Given the description of an element on the screen output the (x, y) to click on. 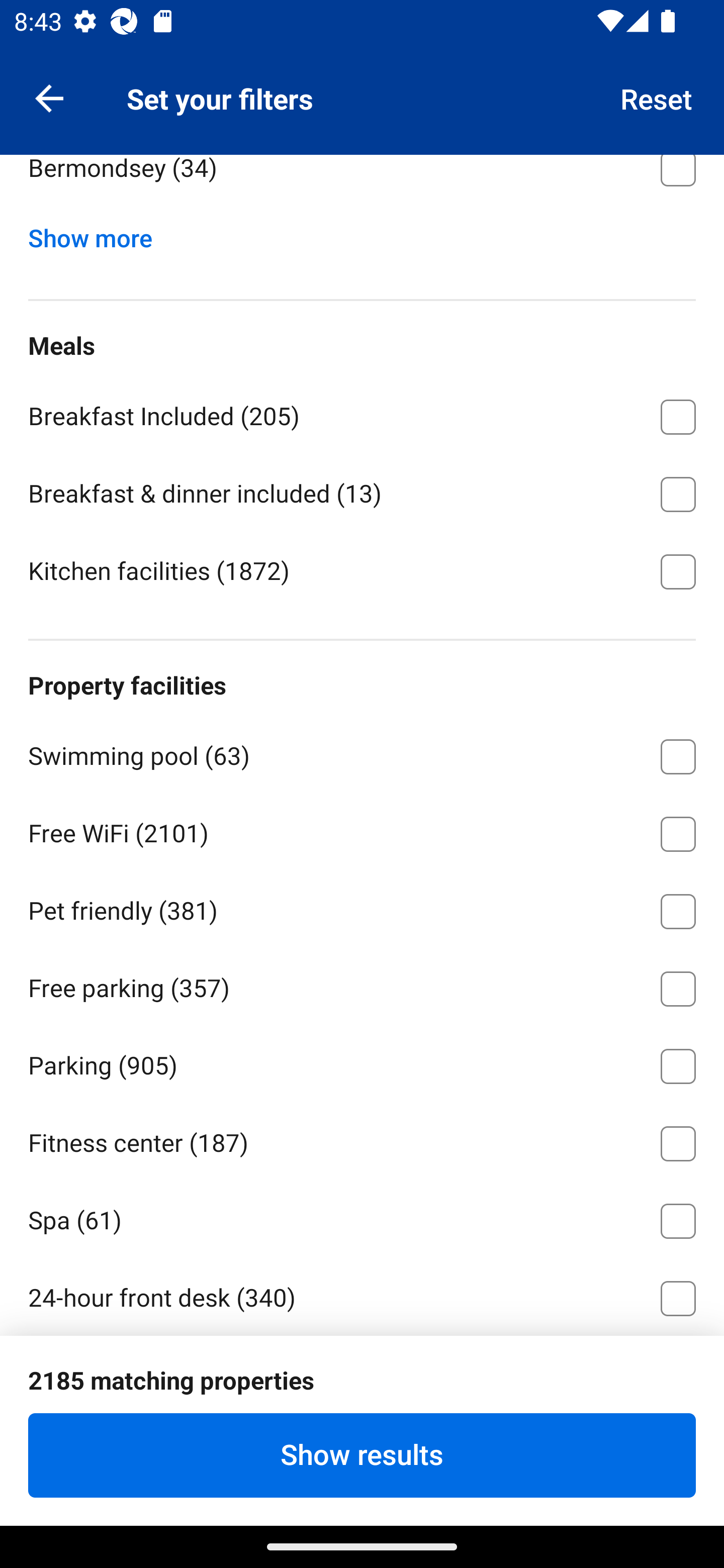
Navigate up (49, 97)
Kensington and Chelsea ⁦(226) (361, 87)
Reset (656, 97)
Bermondsey ⁦(34) (361, 183)
Show more (97, 234)
Breakfast Included ⁦(205) (361, 412)
Breakfast & dinner included ⁦(13) (361, 490)
Kitchen facilities ⁦(1872) (361, 569)
Swimming pool ⁦(63) (361, 753)
Free WiFi ⁦(2101) (361, 829)
Pet friendly ⁦(381) (361, 907)
Free parking ⁦(357) (361, 985)
Parking ⁦(905) (361, 1062)
Fitness center ⁦(187) (361, 1140)
Spa ⁦(61) (361, 1217)
24-hour front desk ⁦(340) (361, 1294)
Show results (361, 1454)
